Given the description of an element on the screen output the (x, y) to click on. 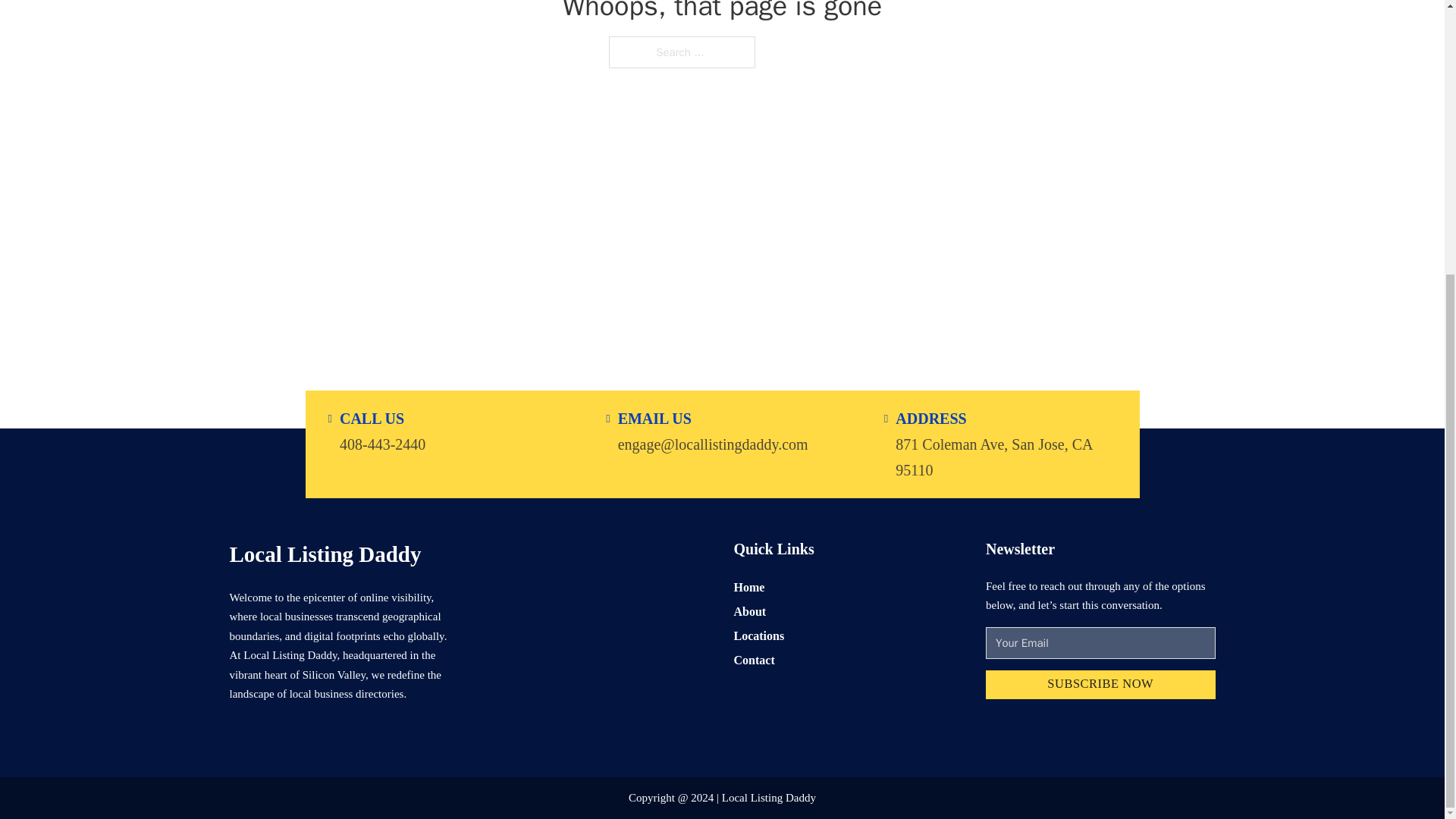
SUBSCRIBE NOW (1100, 685)
Local Listing Daddy (324, 553)
Contact (753, 660)
408-443-2440 (382, 443)
Locations (758, 635)
Home (749, 586)
About (750, 611)
